Given the description of an element on the screen output the (x, y) to click on. 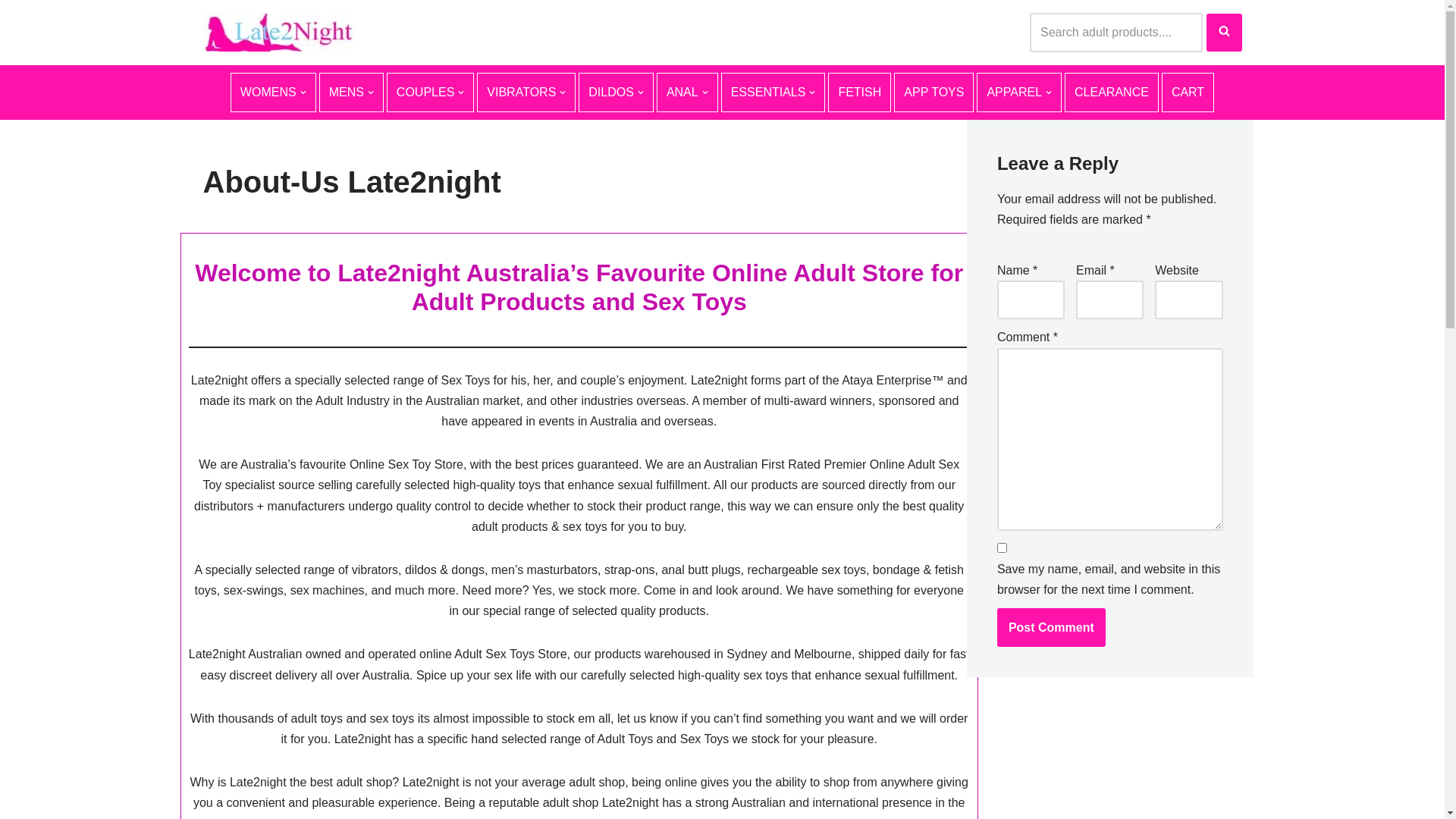
ESSENTIALS Element type: text (773, 92)
Skip to content Element type: text (11, 31)
APP TOYS Element type: text (933, 92)
MENS Element type: text (351, 92)
FETISH Element type: text (859, 92)
ANAL Element type: text (687, 92)
DILDOS Element type: text (615, 92)
CLEARANCE Element type: text (1111, 92)
VIBRATORS Element type: text (525, 92)
WOMENS Element type: text (273, 92)
CART Element type: text (1187, 92)
COUPLES Element type: text (429, 92)
Late2Night: Sex Toys, Adult Toys, Sex Shop Online Element type: hover (278, 32)
Post Comment Element type: text (1051, 627)
APPAREL Element type: text (1018, 92)
